Given the description of an element on the screen output the (x, y) to click on. 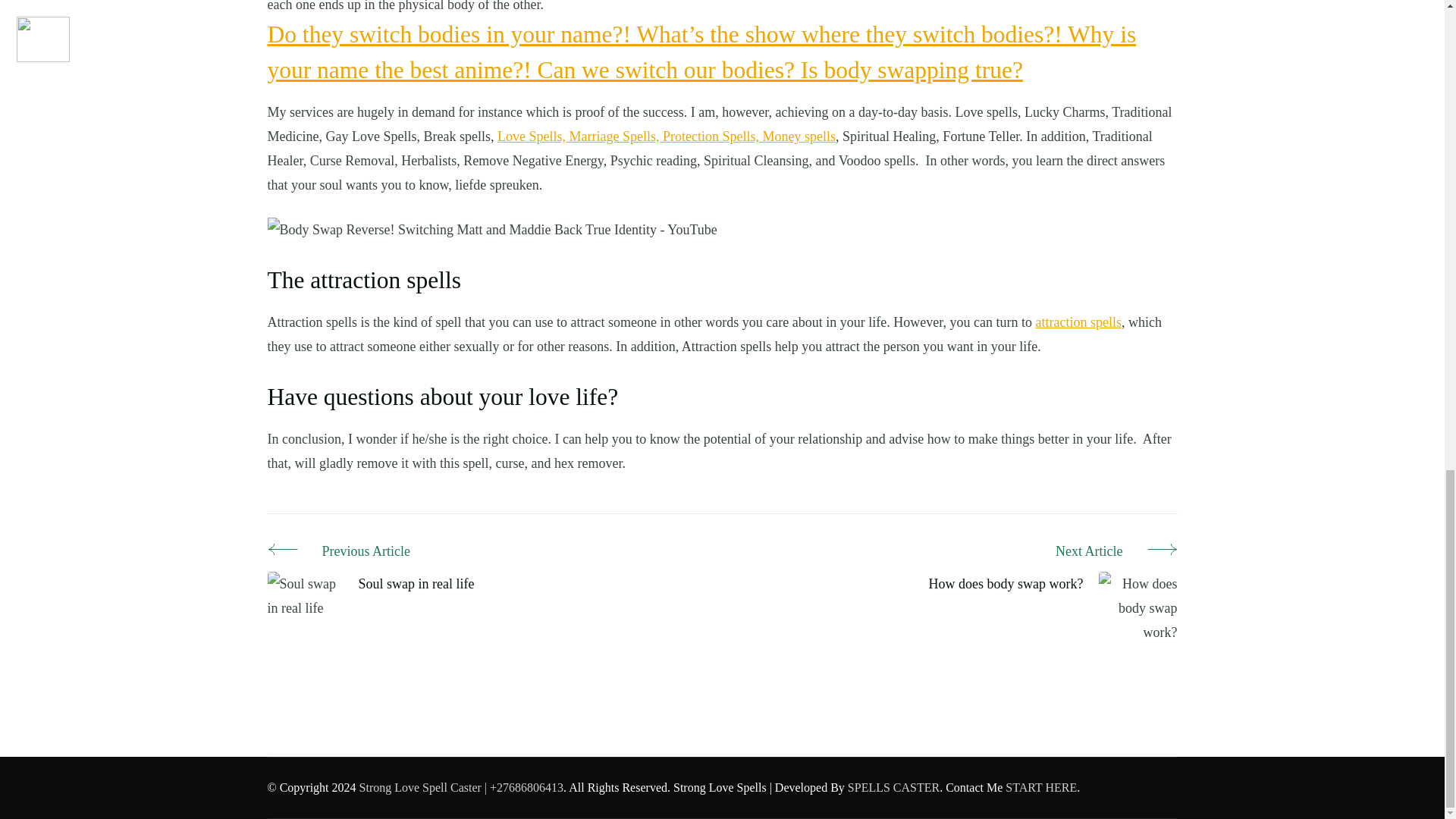
START HERE (1041, 787)
Next Article (1052, 551)
SPELLS CASTER (893, 787)
Previous Article (370, 551)
attraction spells (1078, 322)
